Given the description of an element on the screen output the (x, y) to click on. 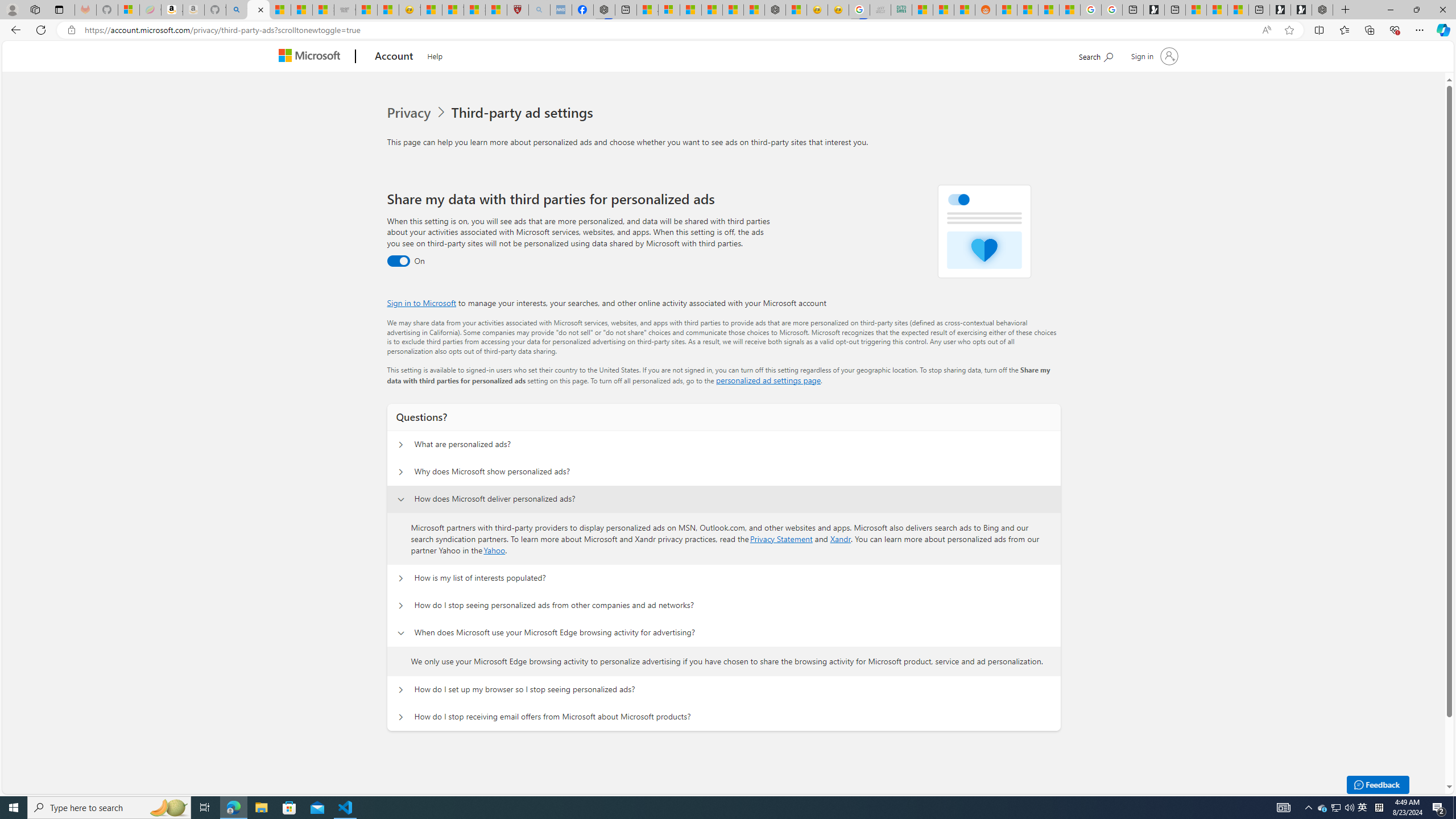
Privacy Statement (780, 538)
Questions? What are personalized ads? (401, 444)
Xandr (840, 538)
